Given the description of an element on the screen output the (x, y) to click on. 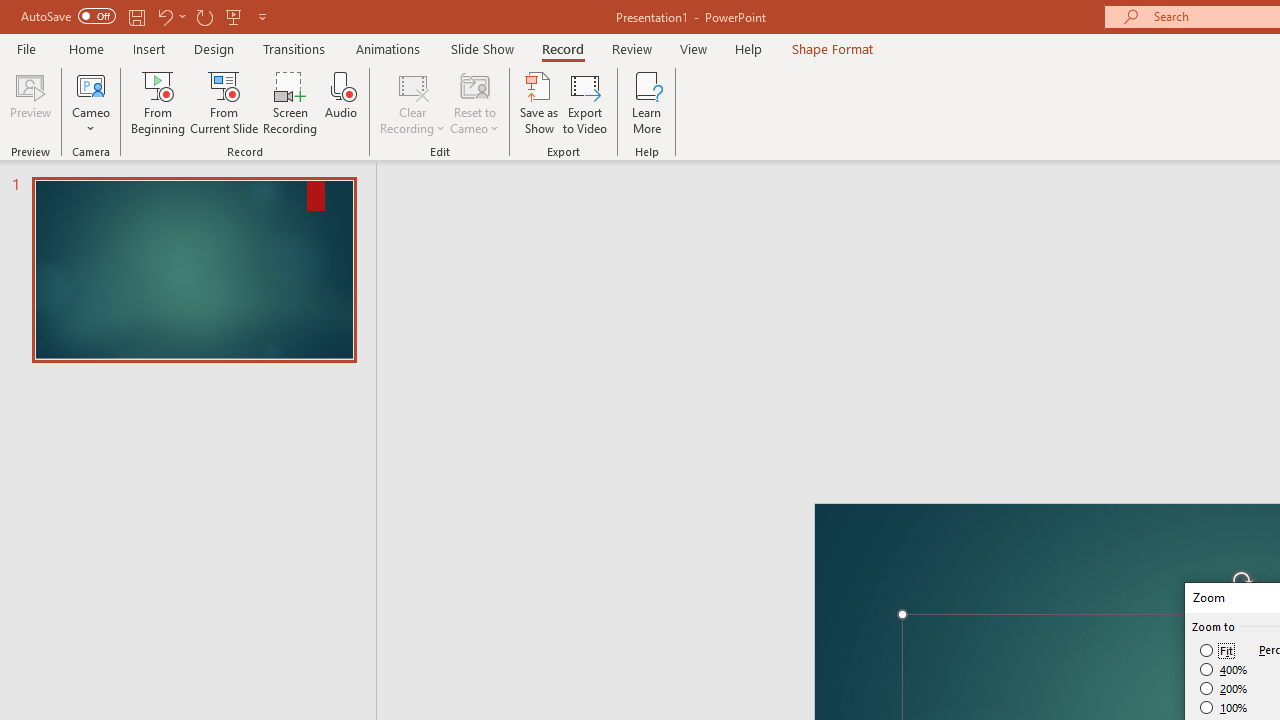
400% (1224, 669)
200% (1224, 688)
From Current Slide... (224, 102)
100% (1224, 707)
Audio (341, 102)
